Given the description of an element on the screen output the (x, y) to click on. 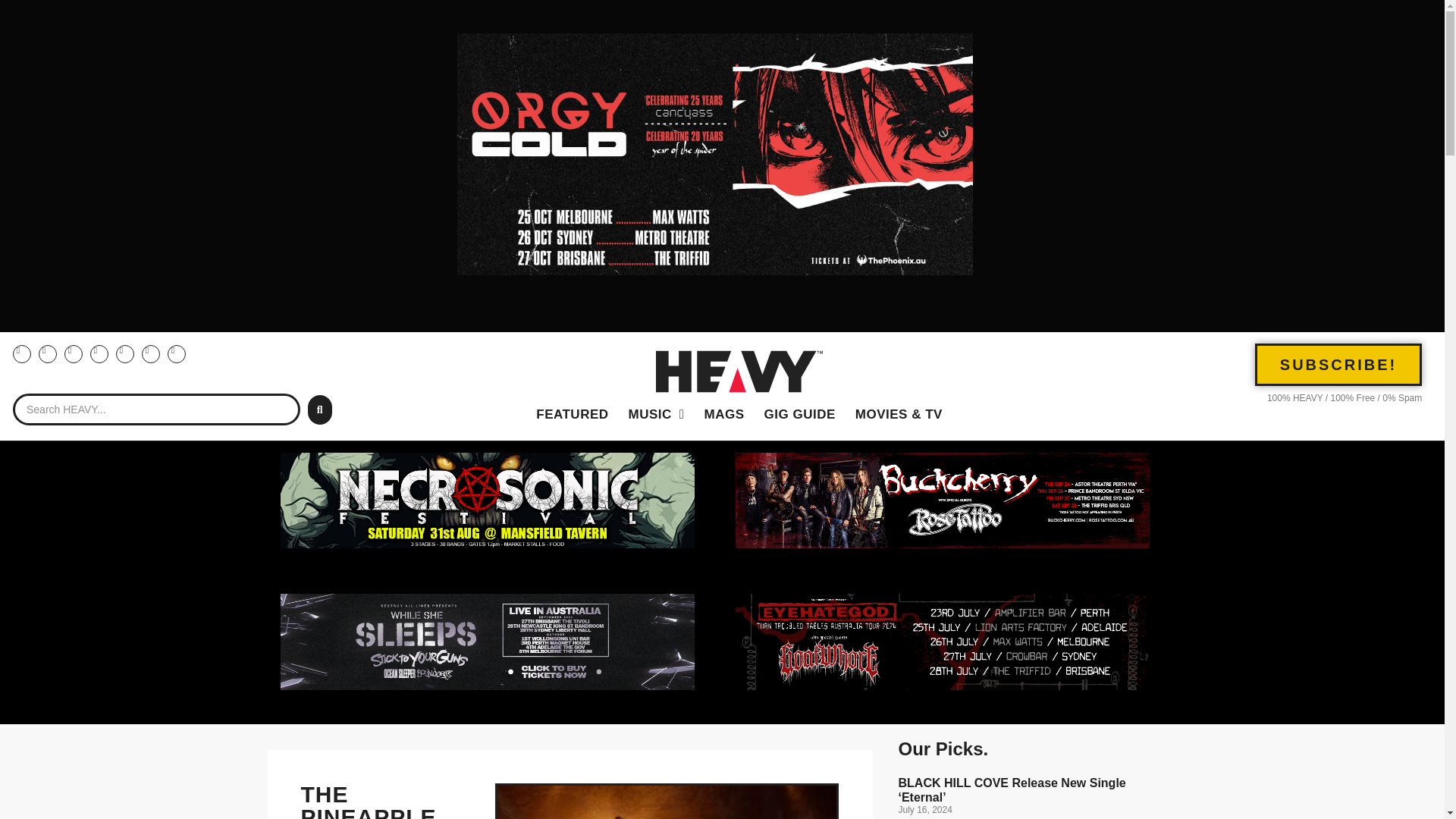
Heavy Music (656, 414)
GIG GUIDE (799, 414)
MAGS (724, 414)
FEATURED (571, 414)
SUBSCRIBE! (1338, 364)
MUSIC (656, 414)
